Given the description of an element on the screen output the (x, y) to click on. 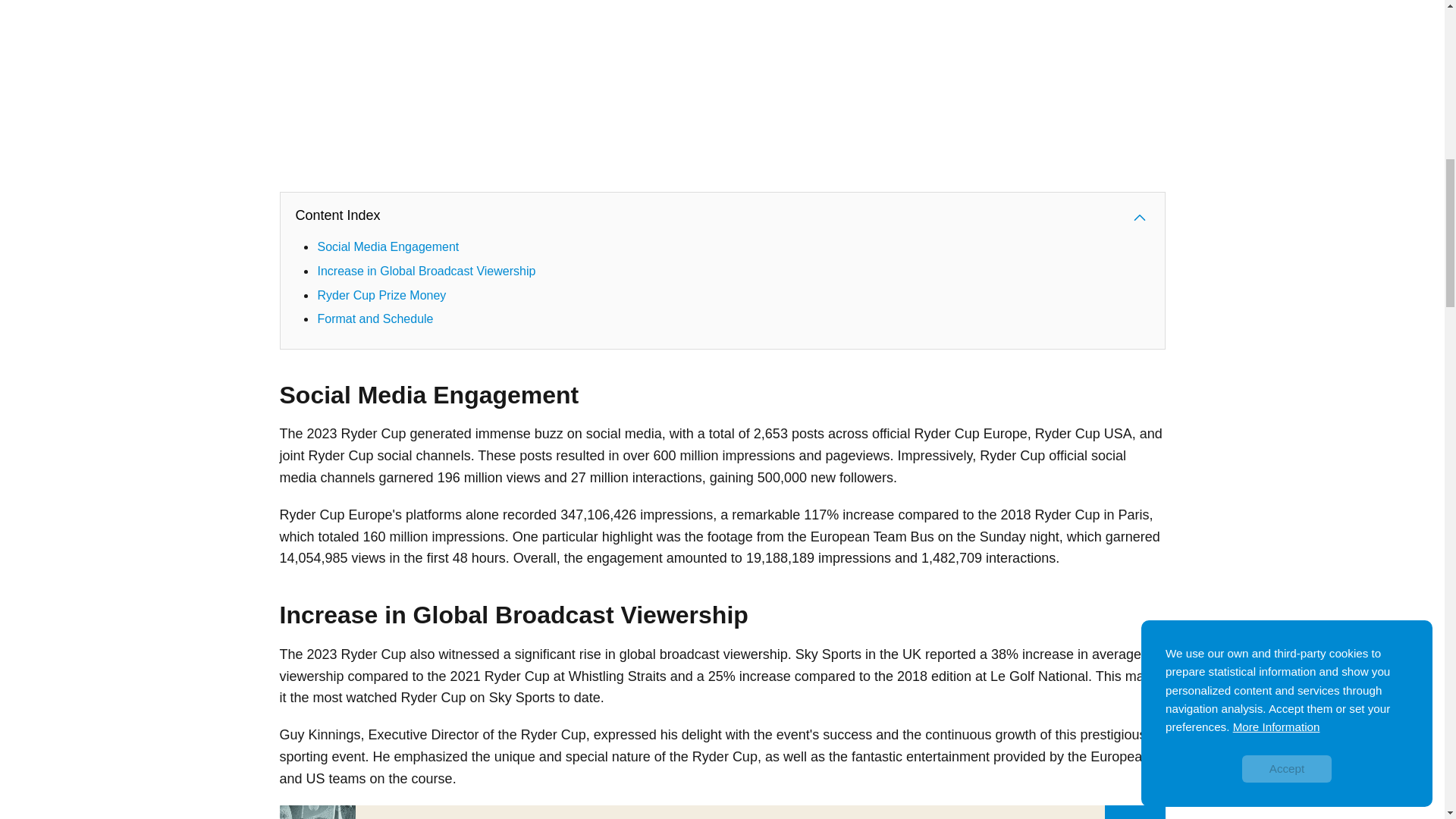
Format and Schedule (374, 318)
Social Media Engagement (387, 246)
Increase in Global Broadcast Viewership (426, 270)
Ryder Cup Prize Money (381, 295)
Format and Schedule (374, 318)
Increase in Global Broadcast Viewership (426, 270)
Social Media Engagement (387, 246)
Ryder Cup Prize Money (381, 295)
